Given the description of an element on the screen output the (x, y) to click on. 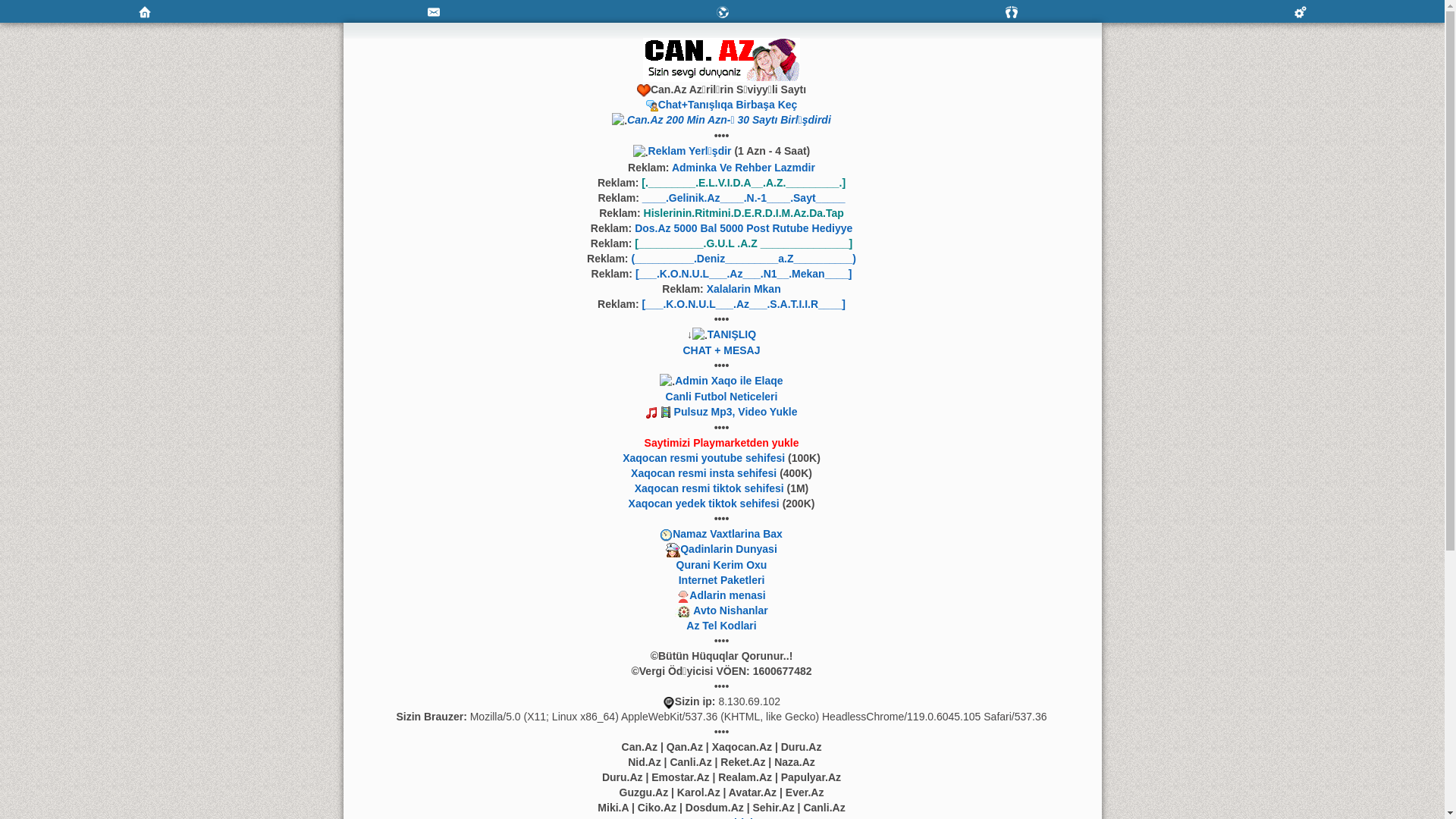
Adminka Ve Rehber Lazmdir Element type: text (743, 167)
Mektublar Element type: hover (721, 12)
Ana Sehife Element type: hover (144, 11)
Internet Paketleri Element type: text (721, 580)
Canli Futbol Neticeleri Element type: text (721, 396)
Xaqocan resmi tiktok sehifesi Element type: text (709, 488)
[___.K.O.N.U.L___.Az___.S.A.T.I.I.R____] Element type: text (742, 304)
____.Gelinik.Az____.N.-1____.Sayt_____ Element type: text (743, 197)
Az Tel Kodlari Element type: text (721, 625)
Mektublar Element type: hover (721, 11)
Mesajlar Element type: hover (433, 12)
Qurani Kerim Oxu Element type: text (721, 564)
Qadinlarin Dunyasi Element type: text (728, 548)
[___________.G.U.L .A.Z _______________] Element type: text (743, 243)
[___.K.O.N.U.L___.Az___.N1__.Mekan____] Element type: text (743, 273)
Xalalarin Mkan Element type: text (743, 288)
[.________.E.L.V.I.D.A__.A.Z._________.] Element type: text (743, 182)
Xaqocan resmi youtube sehifesi Element type: text (703, 457)
Ana Sehife Element type: hover (144, 12)
Dos.Az 5000 Bal 5000 Post Rutube Hediyye Element type: text (743, 228)
Pulsuz Mp3, Video Yukle Element type: text (735, 411)
Hislerinin.Ritmini.D.E.R.D.I.M.Az.Da.Tap Element type: text (743, 213)
Xaqocan yedek tiktok sehifesi Element type: text (703, 503)
Namaz Vaxtlarina Bax Element type: text (727, 533)
Qonaqlar Element type: hover (1010, 11)
Mesajlar Element type: hover (432, 11)
Adlarin menasi Element type: text (727, 595)
CHAT + MESAJ Element type: text (720, 350)
Xaqocan resmi insta sehifesi Element type: text (703, 473)
Avto Nishanlar Element type: text (730, 610)
Qonaqlar Element type: hover (1011, 12)
(__________.Deniz_________a.Z__________) Element type: text (743, 258)
Saytimizi Playmarketden yukle Element type: text (721, 442)
Admin Xaqo ile Elaqe Element type: text (728, 380)
